Given the description of an element on the screen output the (x, y) to click on. 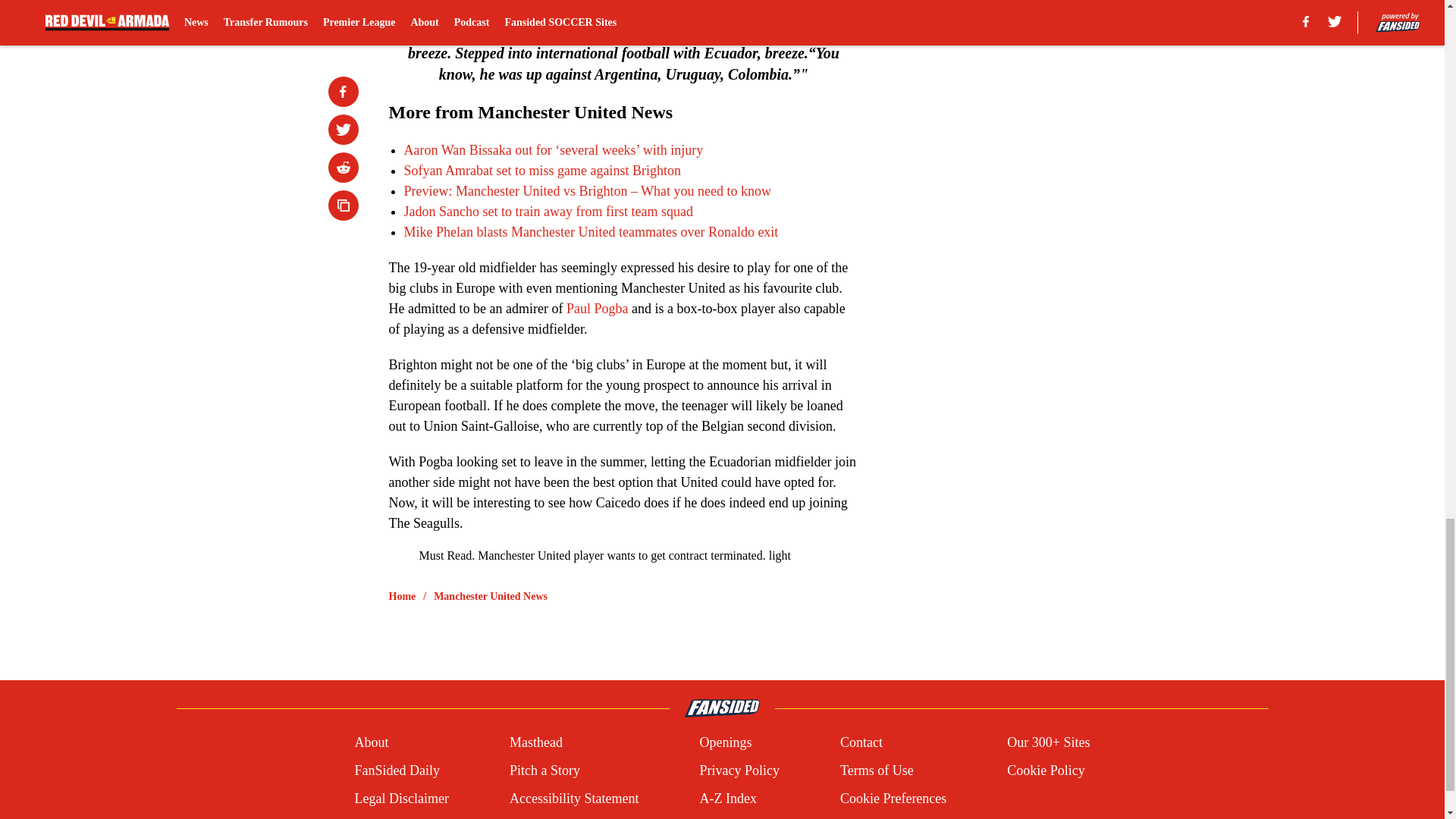
FanSided Daily (396, 770)
Paul Pogba (597, 308)
Home (401, 596)
Cookie Policy (1045, 770)
Pitch a Story (544, 770)
Sofyan Amrabat set to miss game against Brighton (541, 170)
About (370, 742)
Privacy Policy (738, 770)
Contact (861, 742)
Jadon Sancho set to train away from first team squad (548, 211)
Manchester United News (490, 596)
Openings (724, 742)
Legal Disclaimer (400, 798)
Masthead (535, 742)
